Given the description of an element on the screen output the (x, y) to click on. 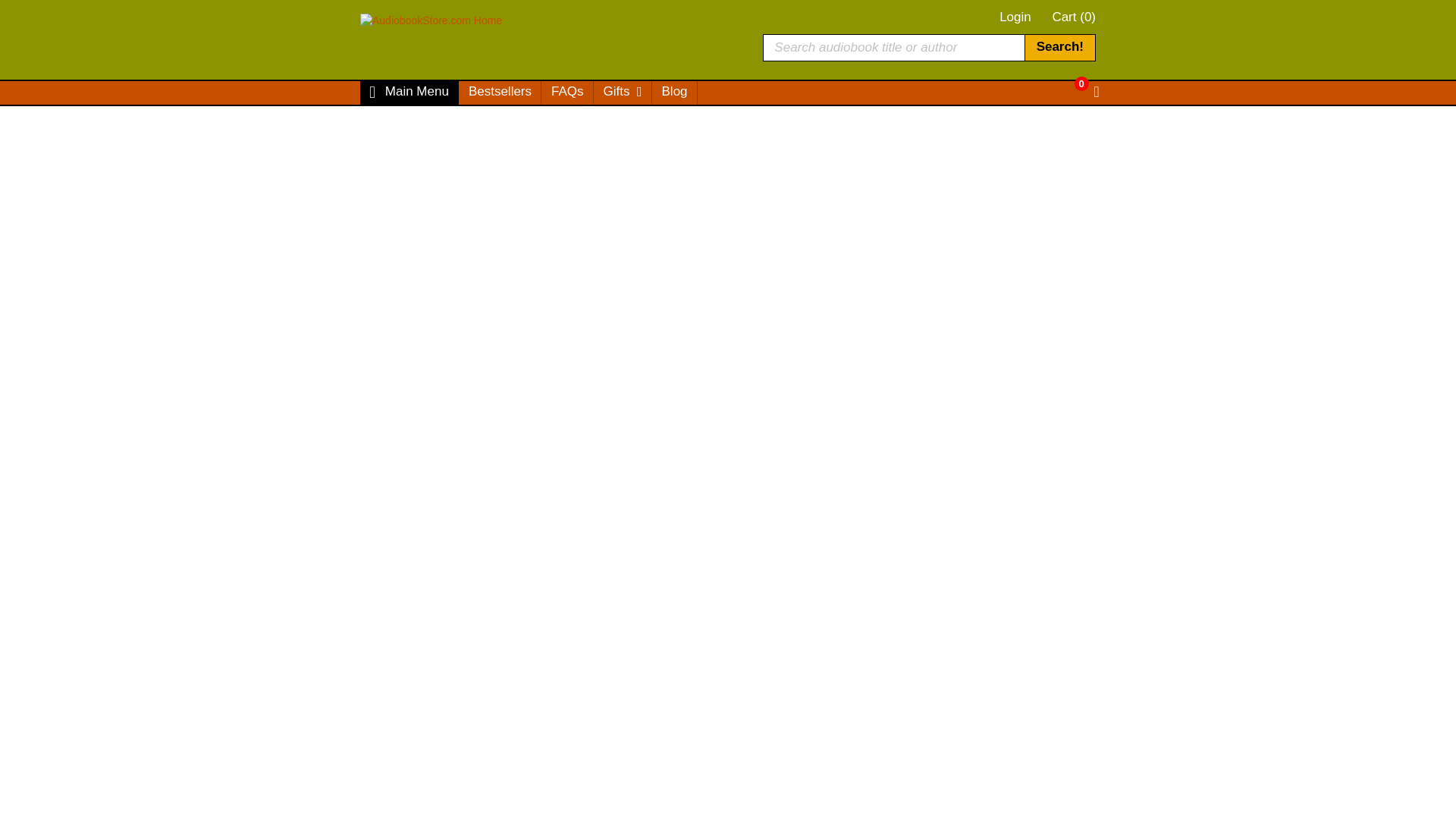
Search! (1059, 47)
Shopping cart (1072, 83)
Shopping cart (1086, 92)
Shopping cart (1073, 16)
